Given the description of an element on the screen output the (x, y) to click on. 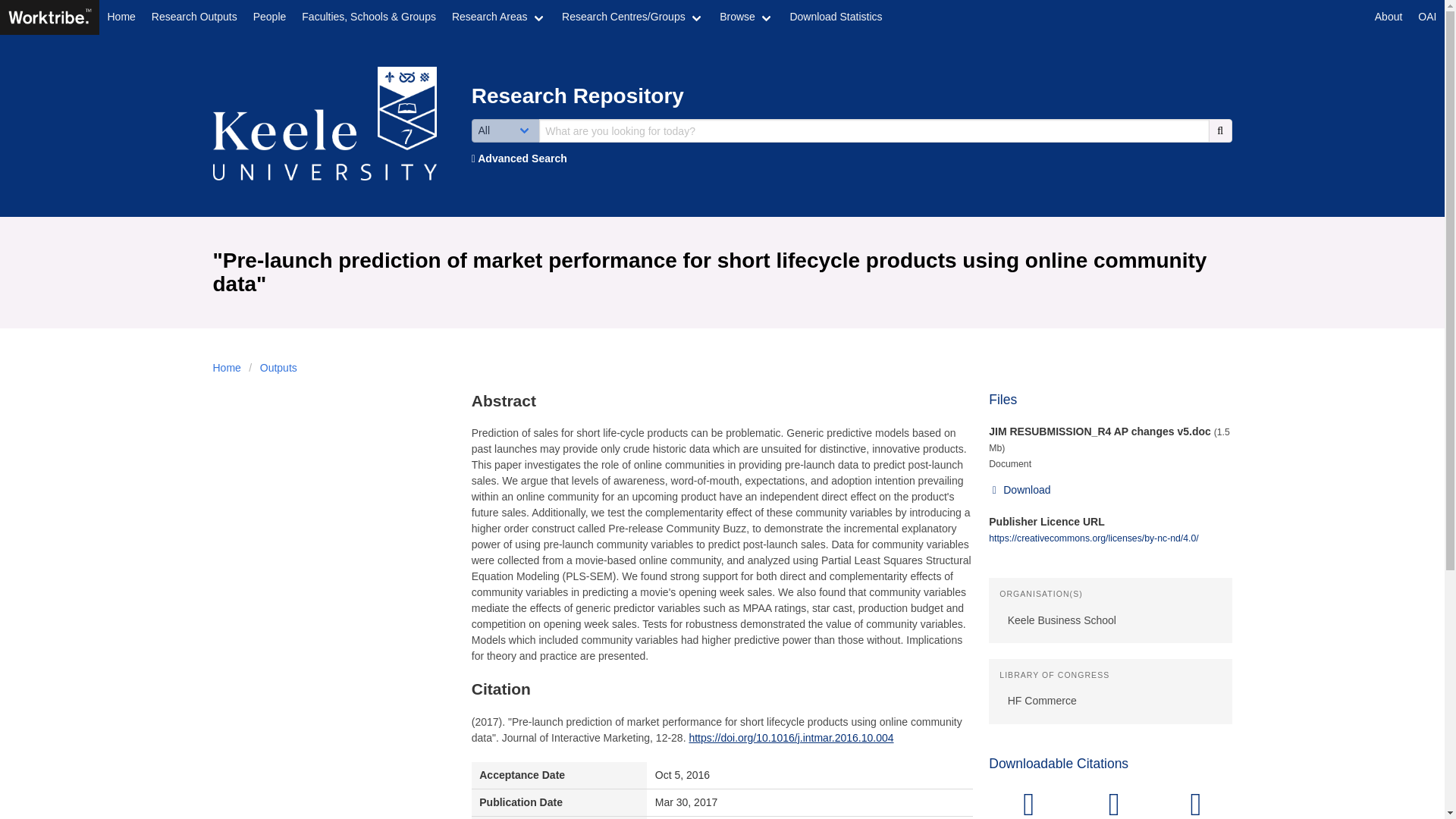
People (269, 17)
Research Areas (498, 17)
Home (120, 17)
2.0.100 (48, 16)
Research Outputs (193, 17)
